Given the description of an element on the screen output the (x, y) to click on. 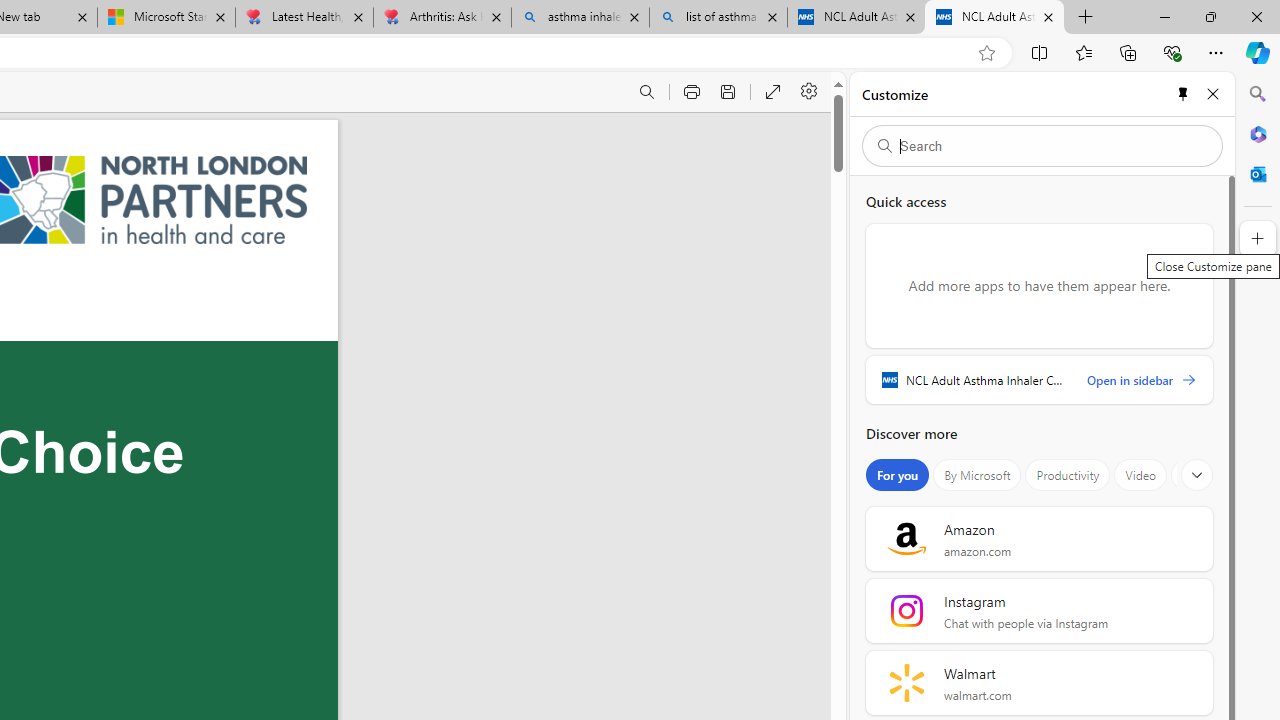
Find (Ctrl + F) (646, 92)
By Microsoft (977, 475)
For you (898, 475)
Video (1140, 475)
Print (Ctrl+P) (692, 92)
Productivity (1068, 475)
